Given the description of an element on the screen output the (x, y) to click on. 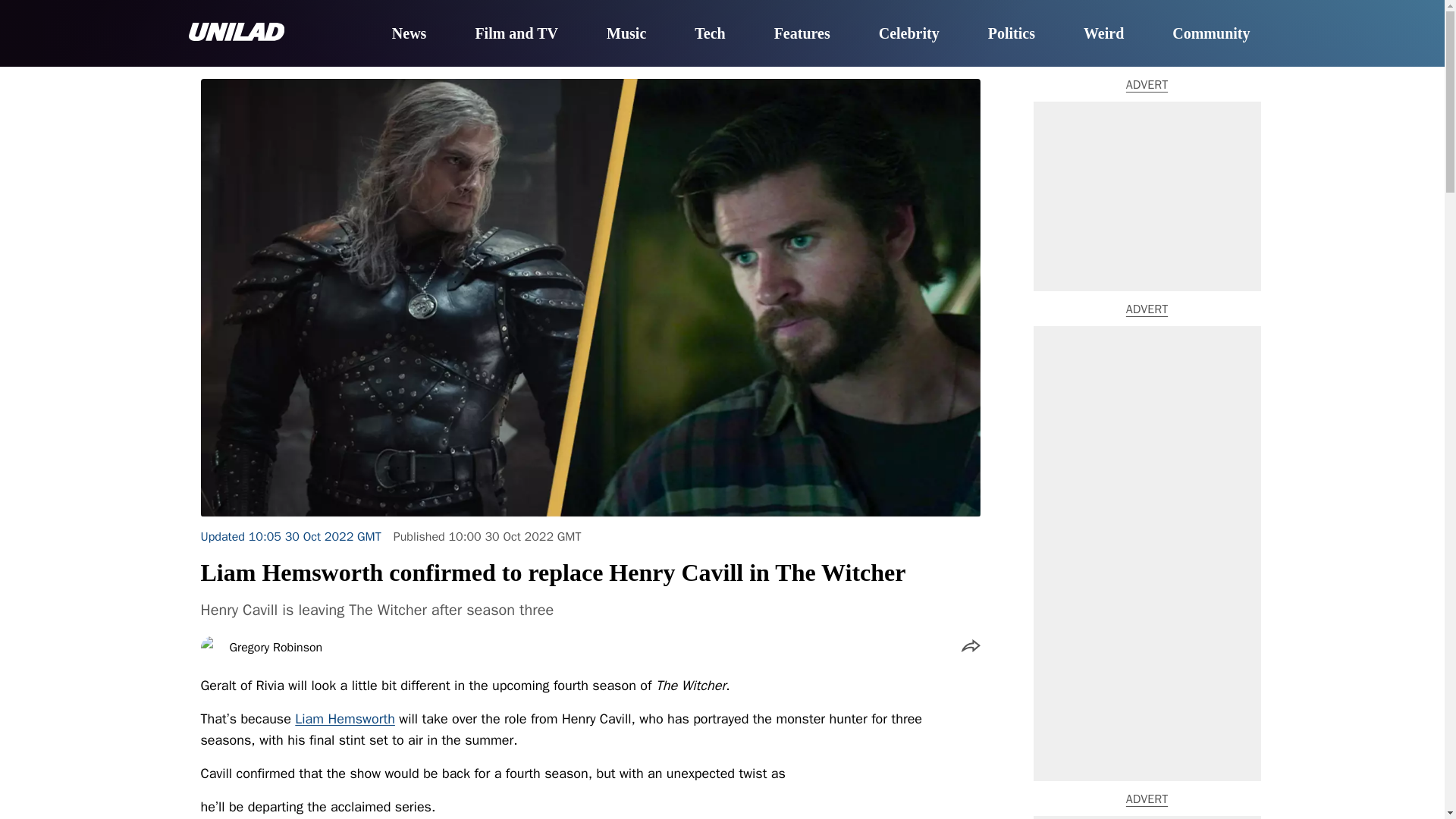
Community (1210, 34)
Politics (1011, 34)
Gregory Robinson (274, 647)
News (408, 34)
Liam Hemsworth (344, 718)
Music (626, 34)
Weird (1103, 34)
Film and TV (515, 34)
Celebrity (909, 34)
Tech (709, 34)
Features (801, 34)
